Given the description of an element on the screen output the (x, y) to click on. 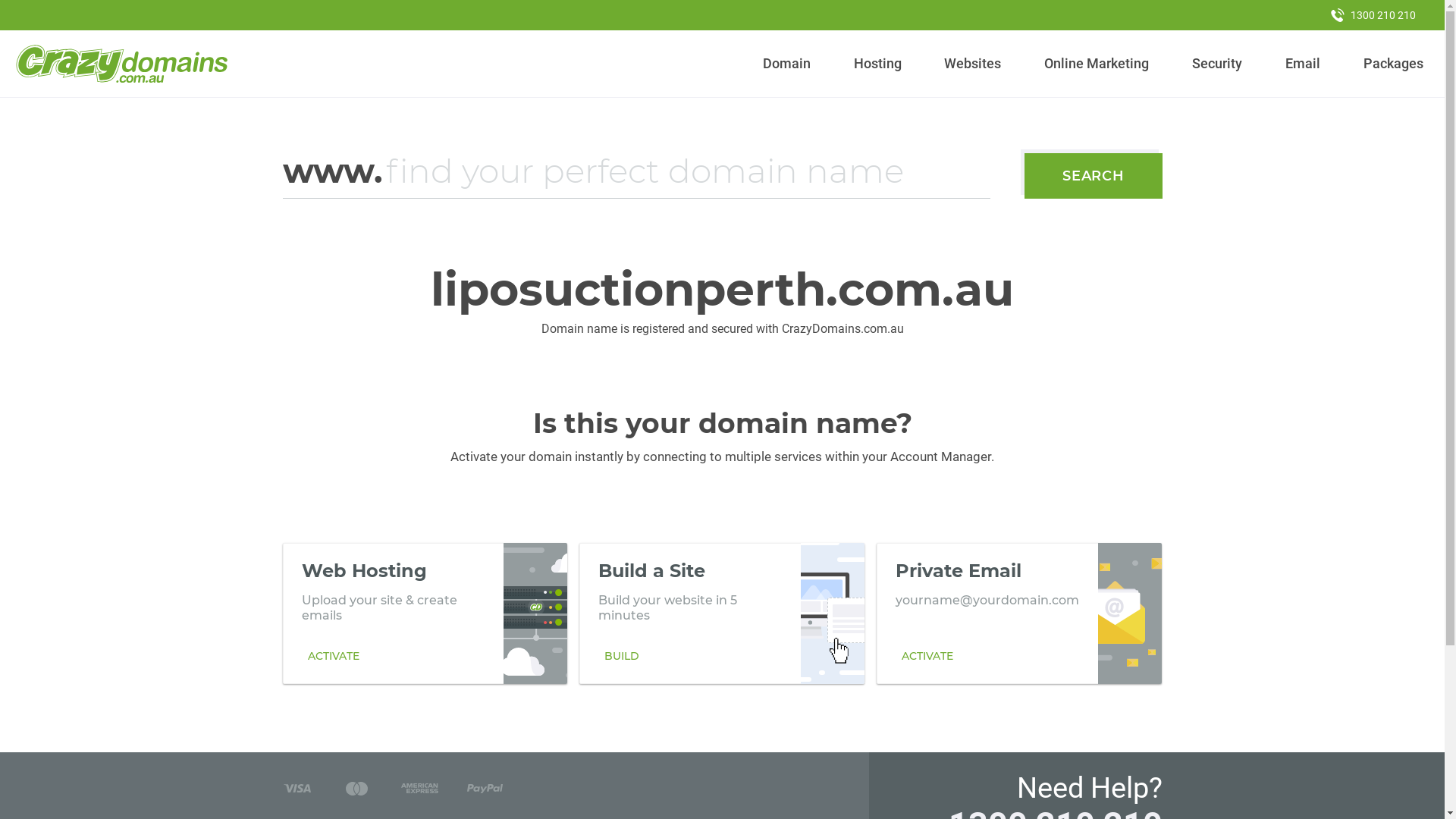
Packages Element type: text (1392, 63)
Websites Element type: text (972, 63)
Build a Site
Build your website in 5 minutes
BUILD Element type: text (721, 613)
Email Element type: text (1302, 63)
Security Element type: text (1217, 63)
1300 210 210 Element type: text (1373, 15)
Private Email
yourname@yourdomain.com
ACTIVATE Element type: text (1018, 613)
Online Marketing Element type: text (1096, 63)
Web Hosting
Upload your site & create emails
ACTIVATE Element type: text (424, 613)
Domain Element type: text (786, 63)
Hosting Element type: text (877, 63)
SEARCH Element type: text (1092, 175)
